Given the description of an element on the screen output the (x, y) to click on. 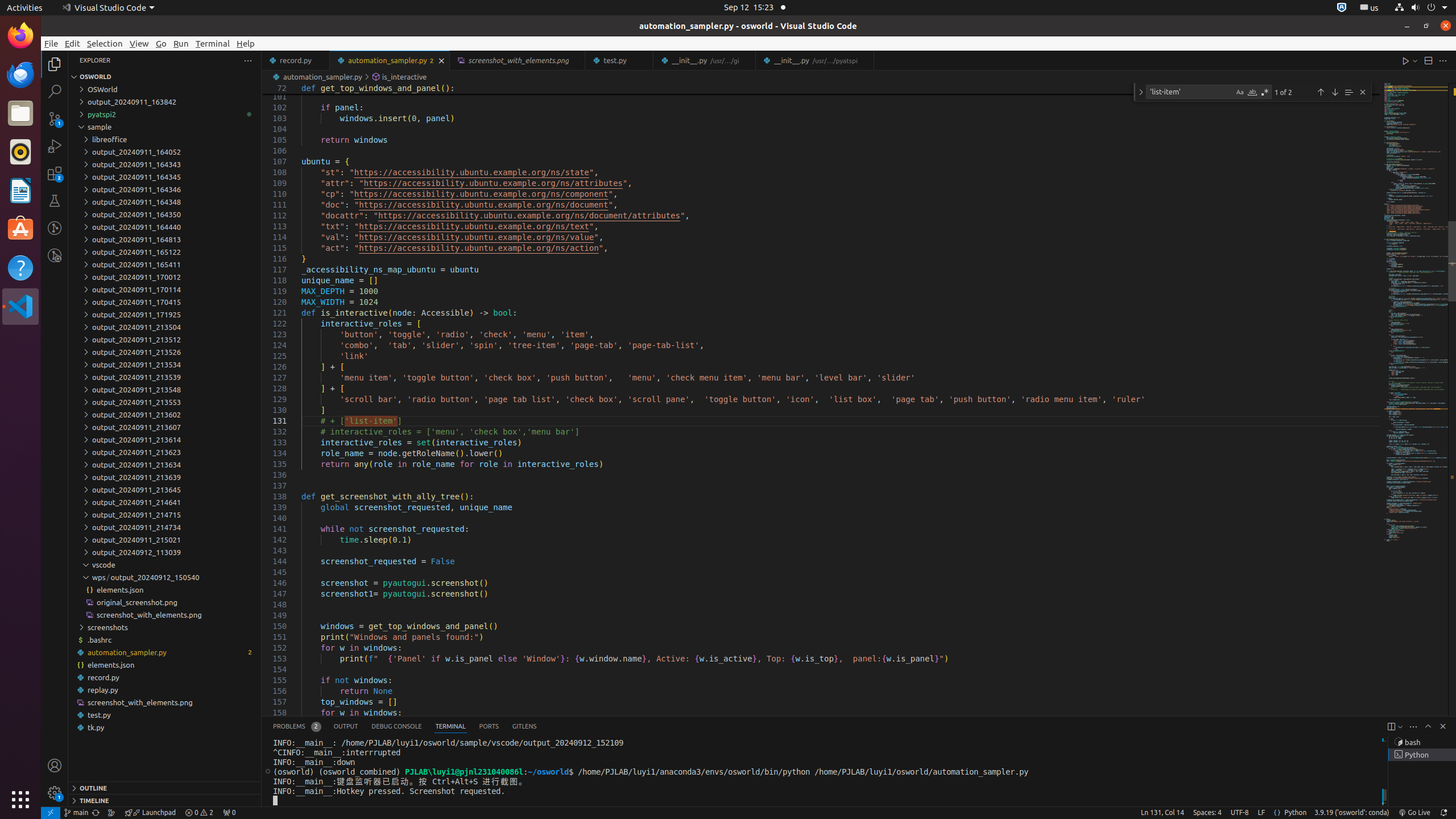
replay.py Element type: tree-item (164, 689)
Explorer Section: osworld Element type: push-button (164, 76)
output_20240911_164346 Element type: tree-item (164, 189)
output_20240911_213512 Element type: tree-item (164, 339)
